Given the description of an element on the screen output the (x, y) to click on. 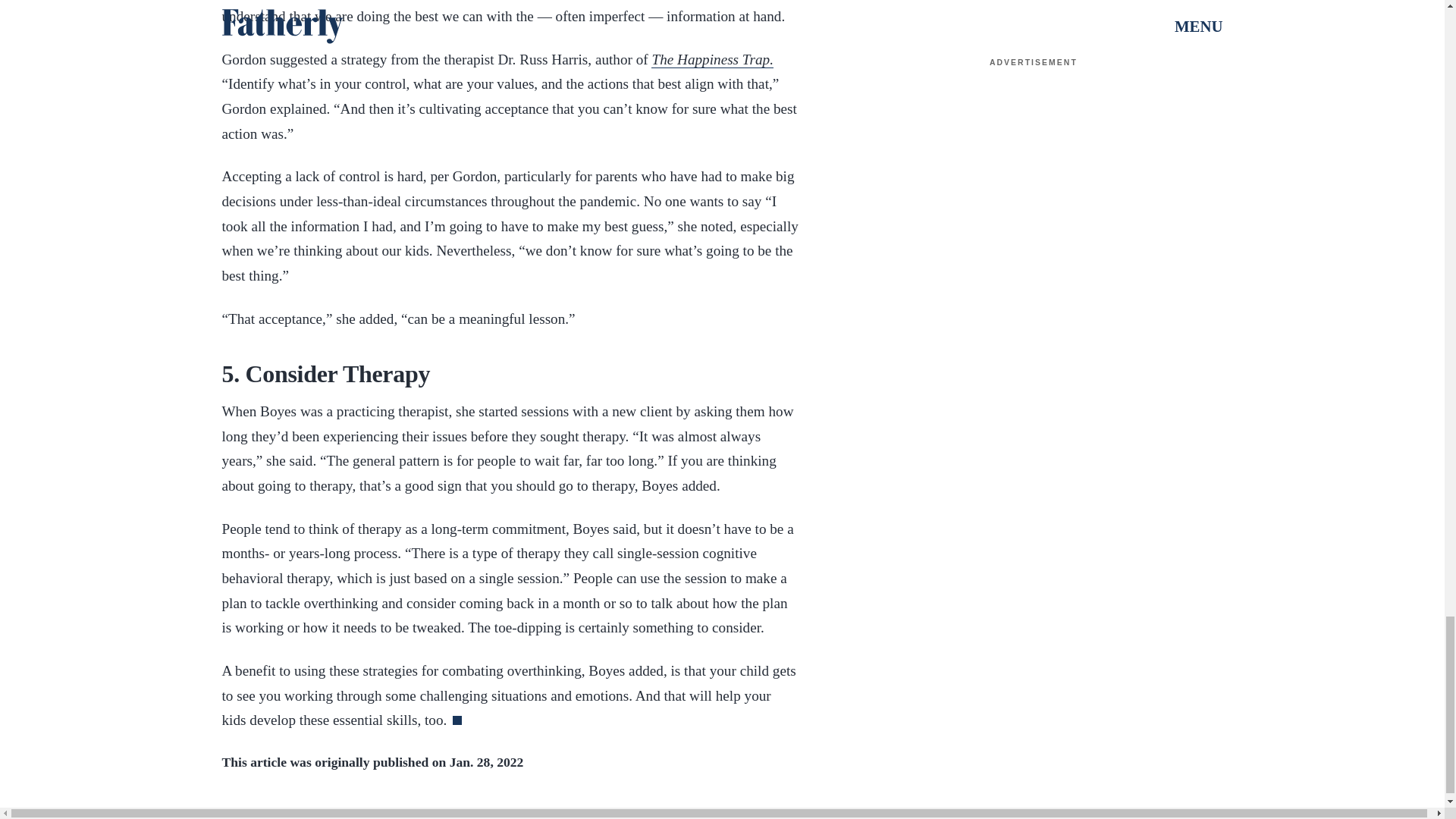
The Happiness Trap. (711, 59)
